Given the description of an element on the screen output the (x, y) to click on. 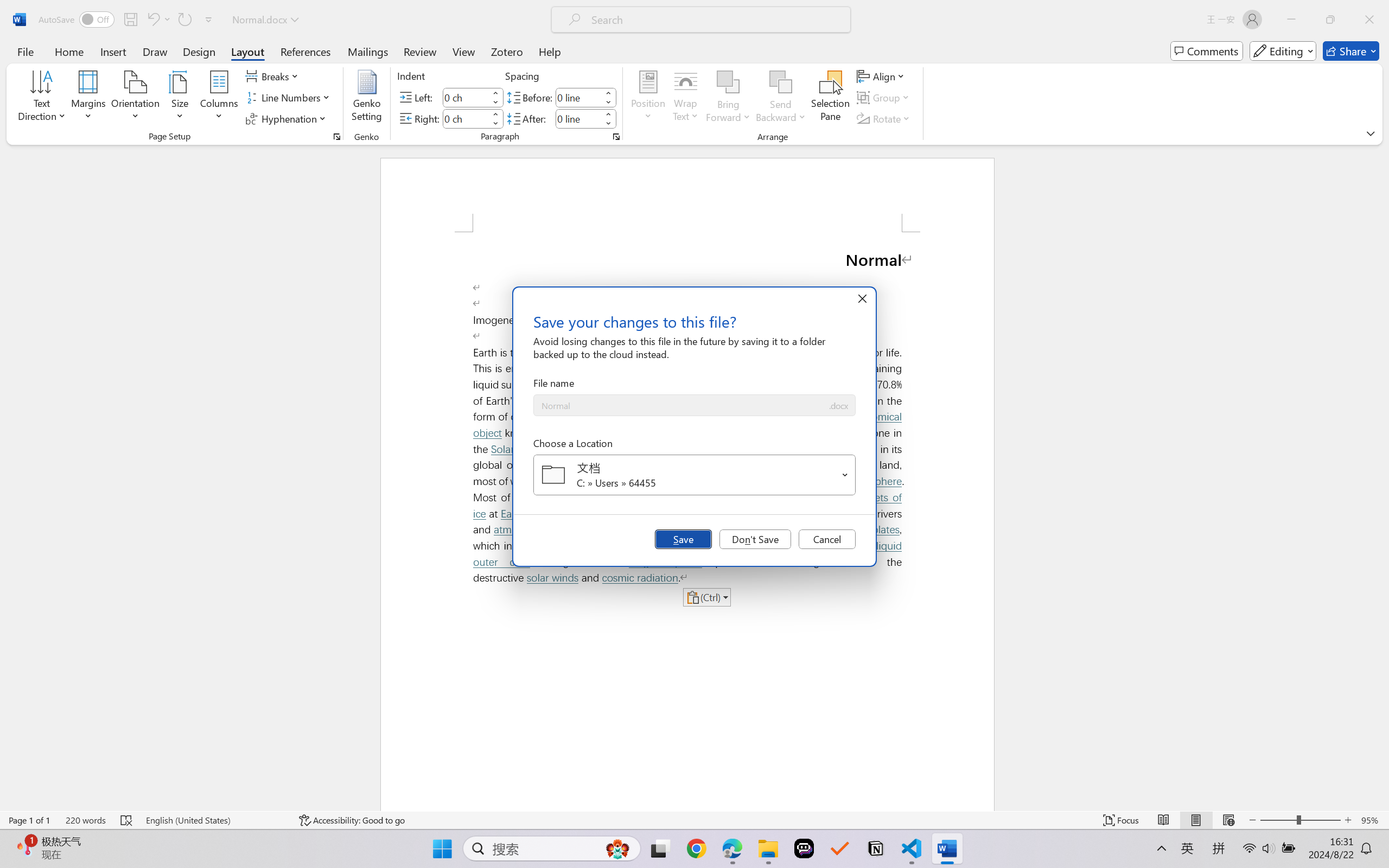
Microsoft search (715, 19)
Don't Save (755, 538)
Class: MsoCommandBar (694, 819)
Repeat Paste Option (184, 19)
Cancel (826, 538)
